Given the description of an element on the screen output the (x, y) to click on. 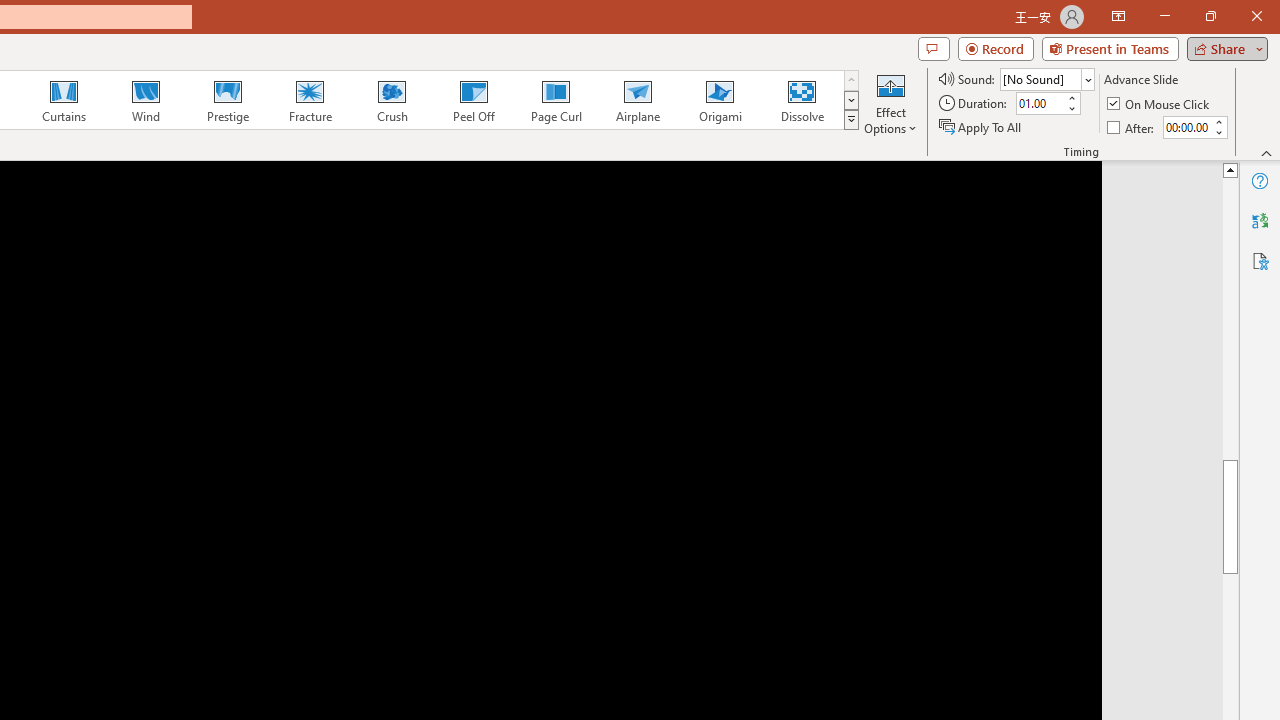
Curtains (63, 100)
Dissolve (802, 100)
Wind (145, 100)
Duration (1039, 103)
After (1131, 126)
After (1186, 127)
Prestige (227, 100)
